Given the description of an element on the screen output the (x, y) to click on. 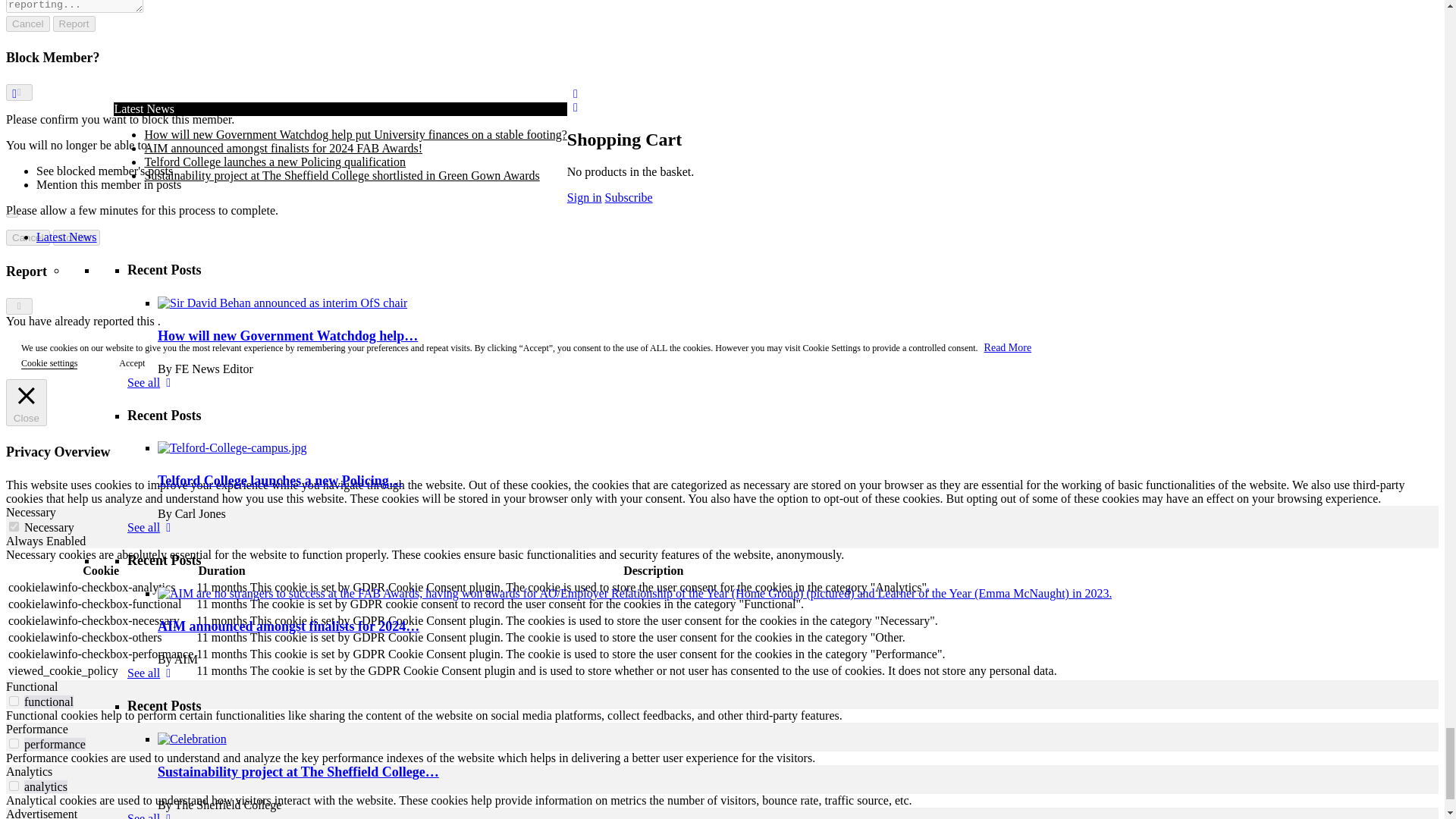
on (13, 743)
on (13, 786)
on (13, 700)
Cancel (27, 237)
on (13, 526)
Cancel (27, 23)
